Given the description of an element on the screen output the (x, y) to click on. 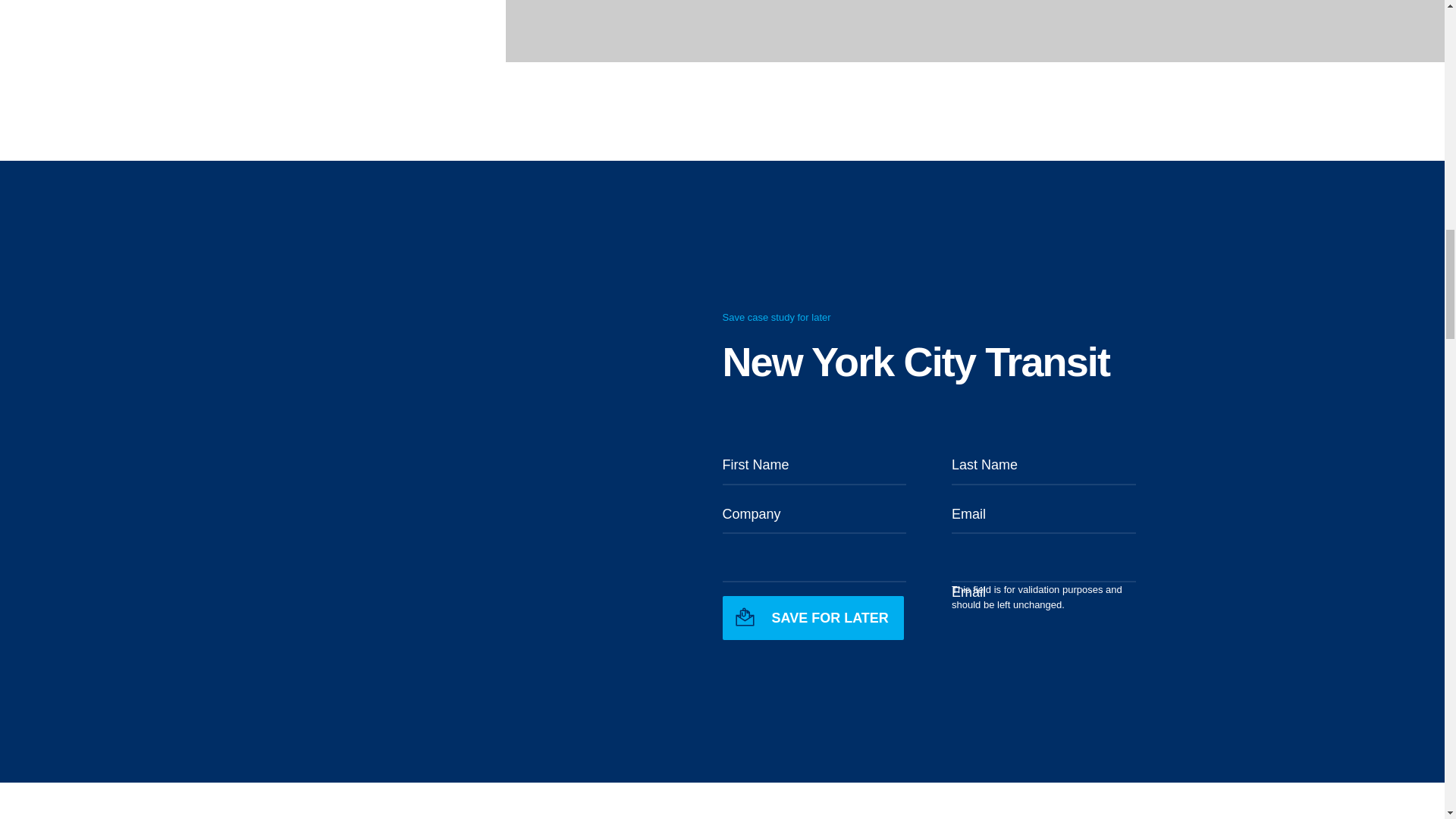
Save for later (812, 617)
